Given the description of an element on the screen output the (x, y) to click on. 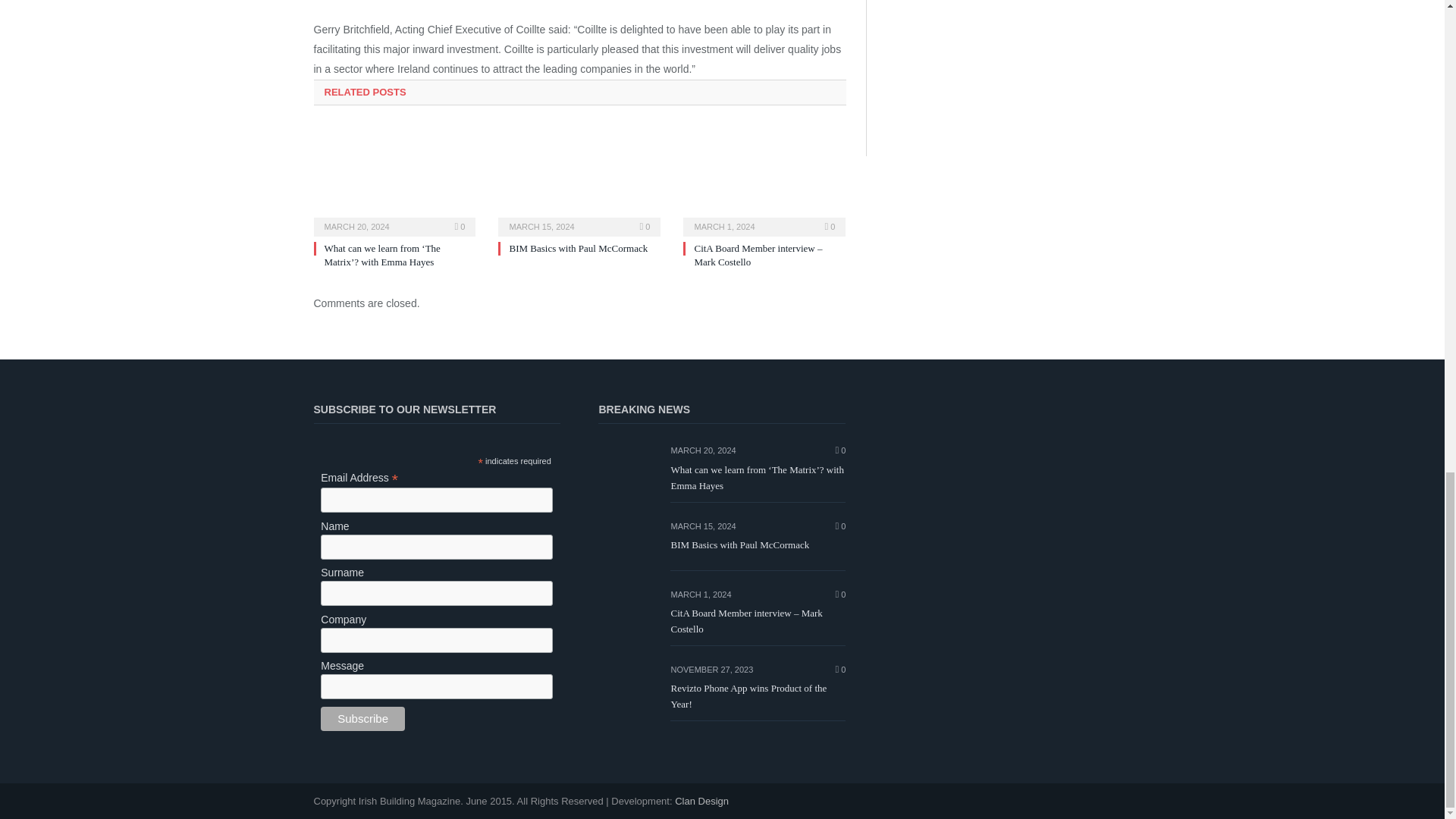
Subscribe (362, 718)
